Given the description of an element on the screen output the (x, y) to click on. 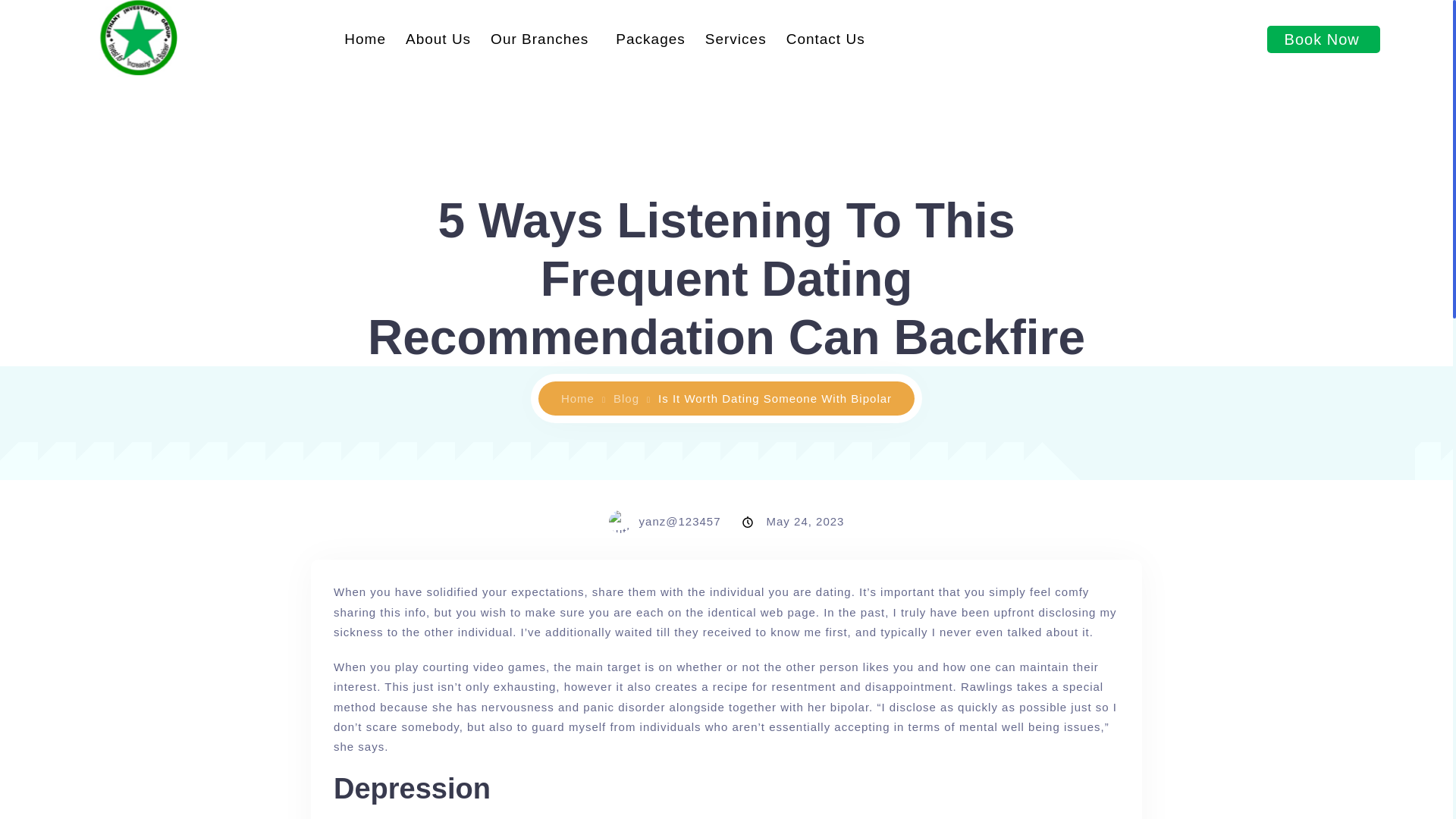
Is It Worth Dating Someone With Bipolar (774, 398)
Services (735, 39)
Home (582, 398)
Our Branches (542, 39)
Home (365, 39)
Bethany (582, 398)
Blog (631, 398)
Contact Us (825, 39)
Book Now (1323, 39)
About Us (438, 39)
